Given the description of an element on the screen output the (x, y) to click on. 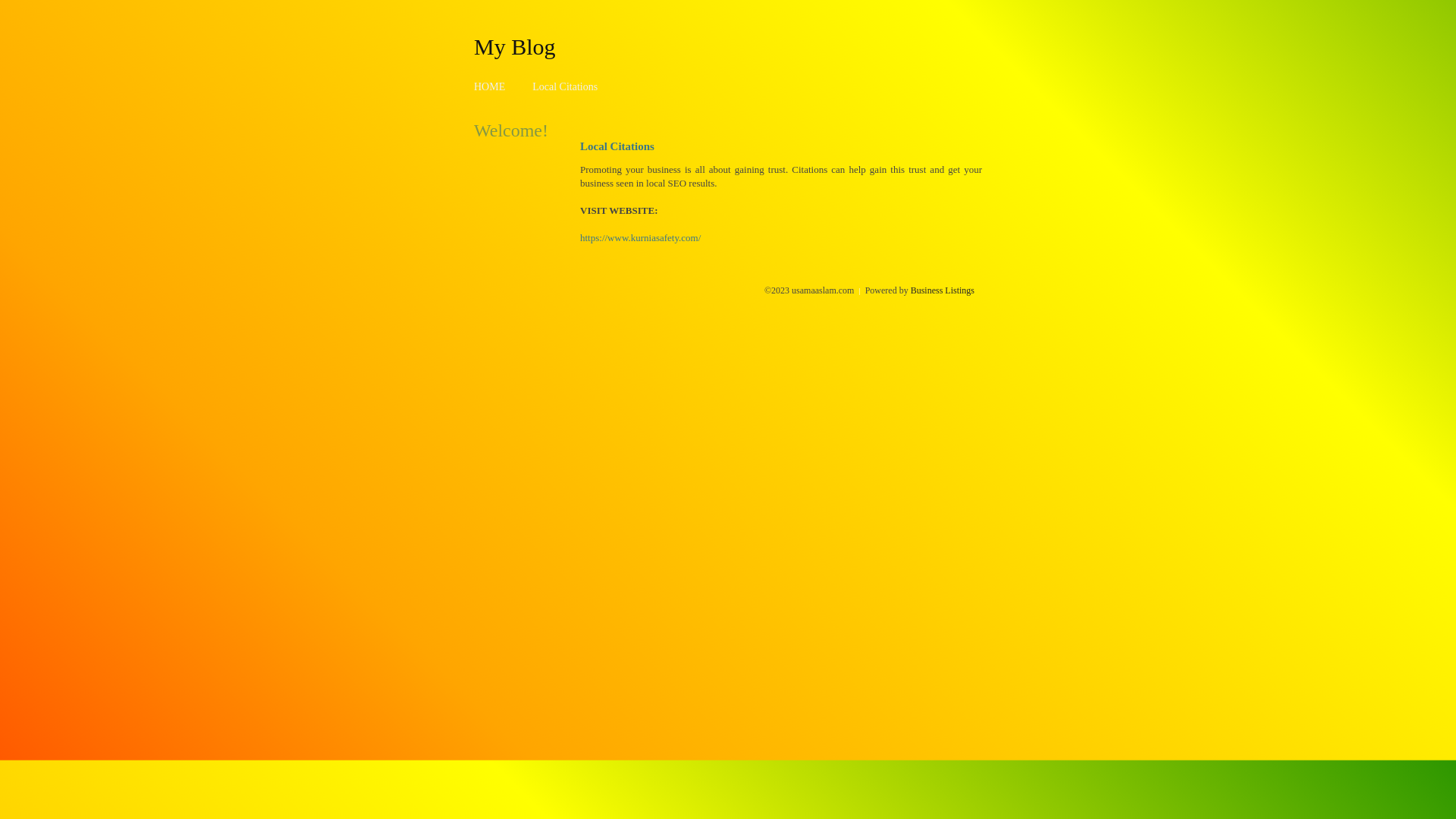
https://www.kurniasafety.com/ Element type: text (640, 237)
Business Listings Element type: text (942, 290)
HOME Element type: text (489, 86)
My Blog Element type: text (514, 46)
Local Citations Element type: text (564, 86)
